Given the description of an element on the screen output the (x, y) to click on. 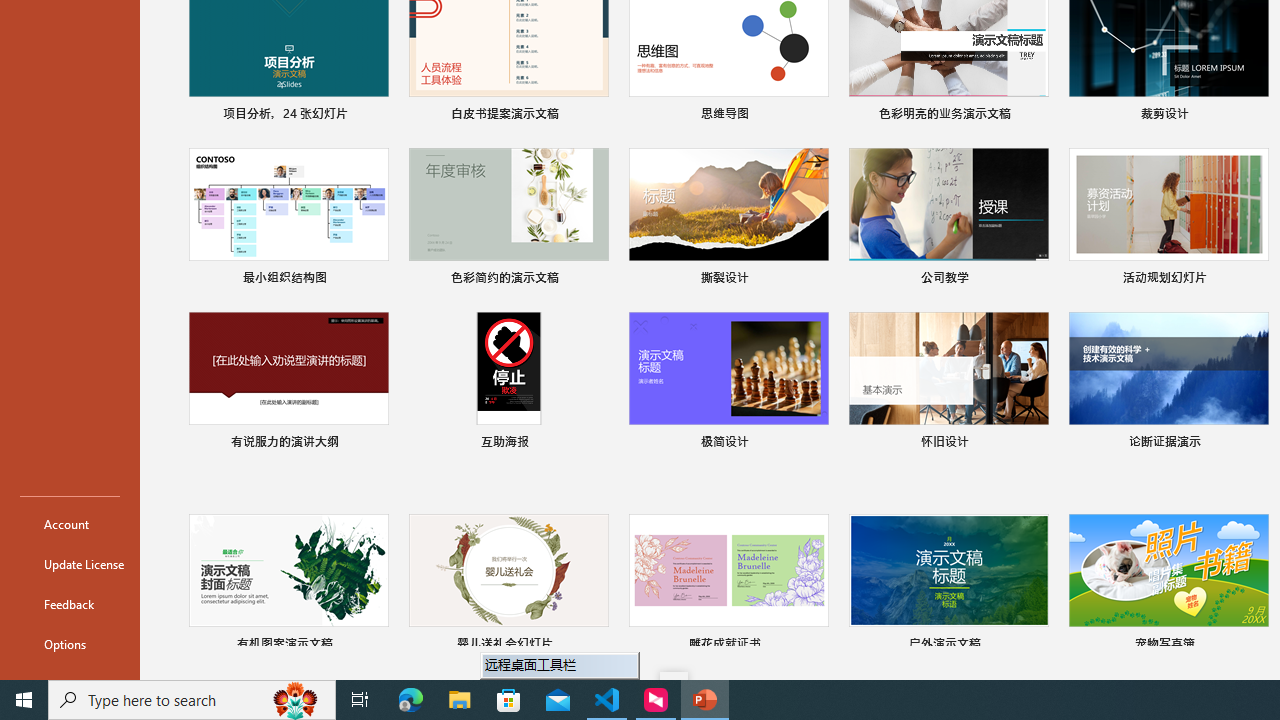
Options (69, 643)
Account (69, 523)
Pin to list (1255, 645)
Feedback (69, 603)
Update License (69, 563)
